Given the description of an element on the screen output the (x, y) to click on. 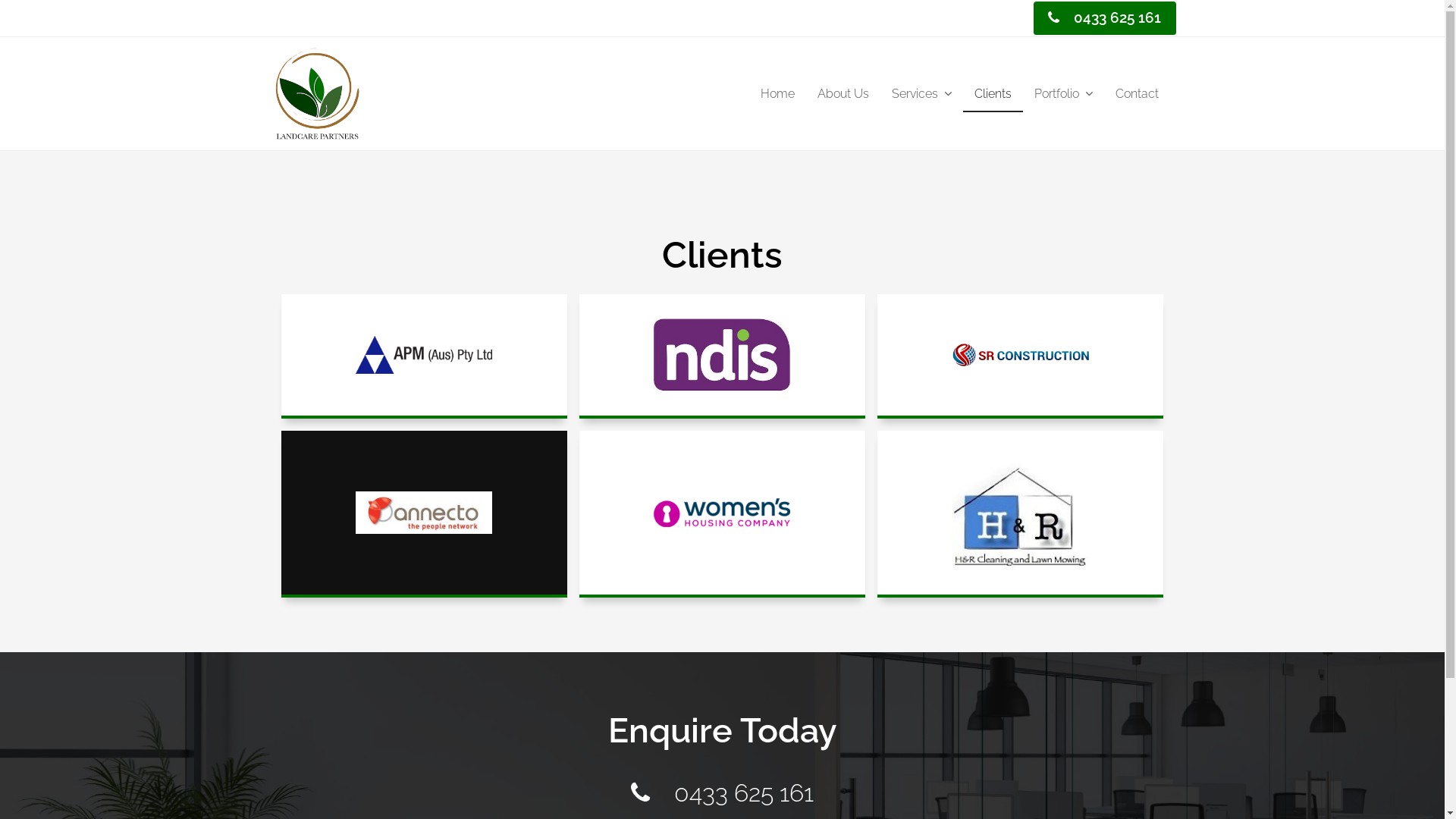
Contact Element type: text (1137, 94)
Services Element type: text (920, 94)
Home Element type: text (777, 94)
Clients Element type: text (992, 94)
About Us Element type: text (842, 94)
Portfolio Element type: text (1062, 94)
